Given the description of an element on the screen output the (x, y) to click on. 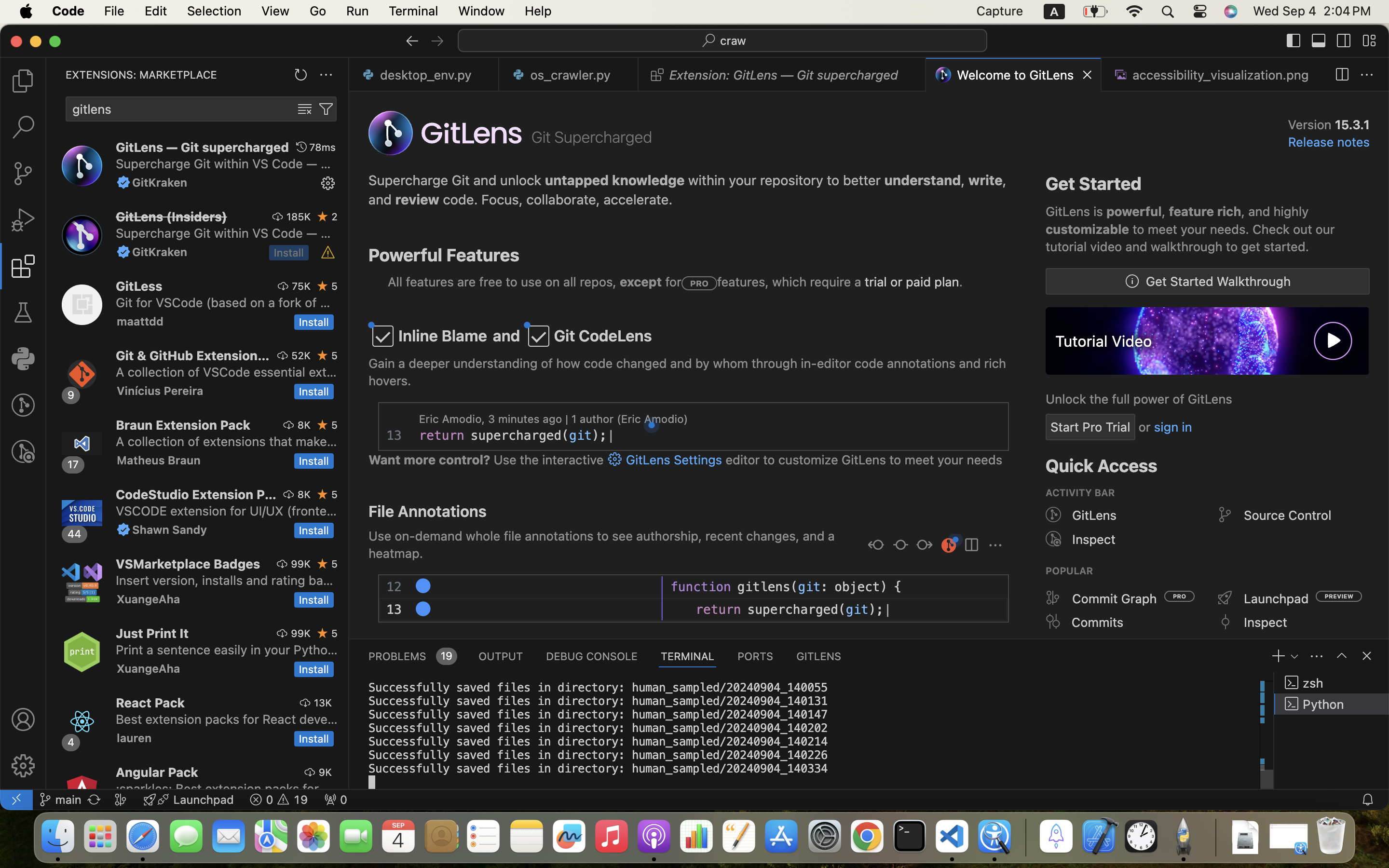
0  Element type: AXRadioButton (23, 312)
Print a sentence easily in your Python, Java, C, C++, PHP, C#, JavaScript, JavaScript JSX, TypeScript, TypeScript JSX, R, Go, Rust, Swift, Ruby, Objective-C, Objective-C++, Lua, Julia, Dart, Groovy, Visual Basic, CoffeeScript, VBScript, F#, Batch, Powershell, Perl, Perl 6, ShellScript or Clojure fil Element type: AXStaticText (226, 649)
customizable Element type: AXStaticText (1087, 228)
or Element type: AXStaticText (1144, 426)
 Element type: AXStaticText (1224, 597)
